Given the description of an element on the screen output the (x, y) to click on. 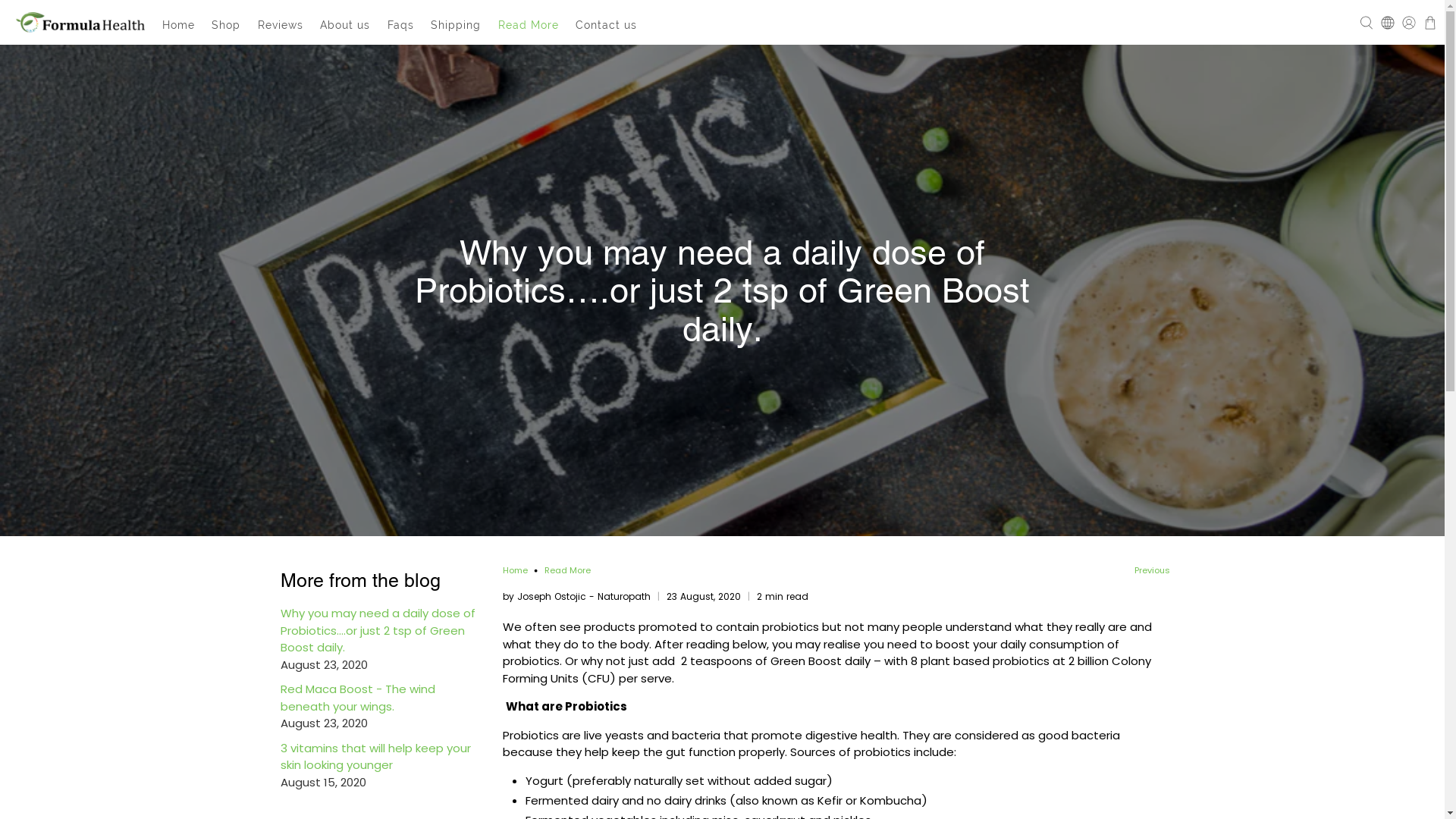
Shop Element type: text (226, 25)
by Joseph Ostojic - Naturopath Element type: text (575, 595)
Read More Element type: text (567, 570)
Reviews Element type: text (279, 25)
Home Element type: text (514, 570)
Faqs Element type: text (401, 25)
Red Maca Boost - The wind beneath your wings. Element type: text (357, 697)
Contact us Element type: text (606, 25)
Previous Element type: text (1152, 570)
Read More Element type: text (528, 25)
Formula Health Element type: hover (79, 21)
Home Element type: text (178, 25)
Shipping Element type: text (455, 25)
About us Element type: text (345, 25)
3 vitamins that will help keep your skin looking younger Element type: text (375, 756)
